Given the description of an element on the screen output the (x, y) to click on. 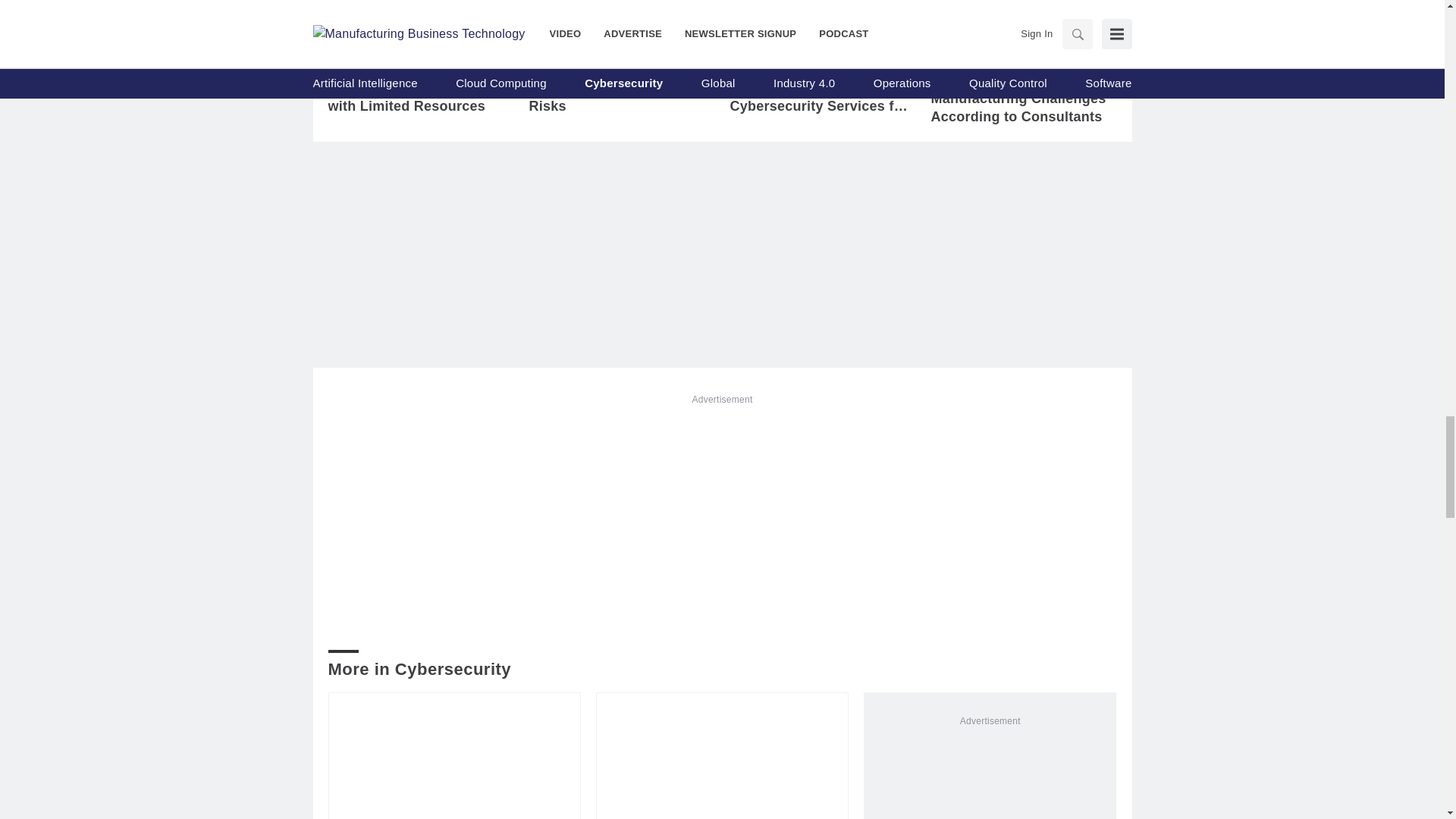
Sponsor Content (996, 48)
Cybersecurity (384, 43)
Cybersecurity (585, 43)
Cybersecurity (786, 43)
